Given the description of an element on the screen output the (x, y) to click on. 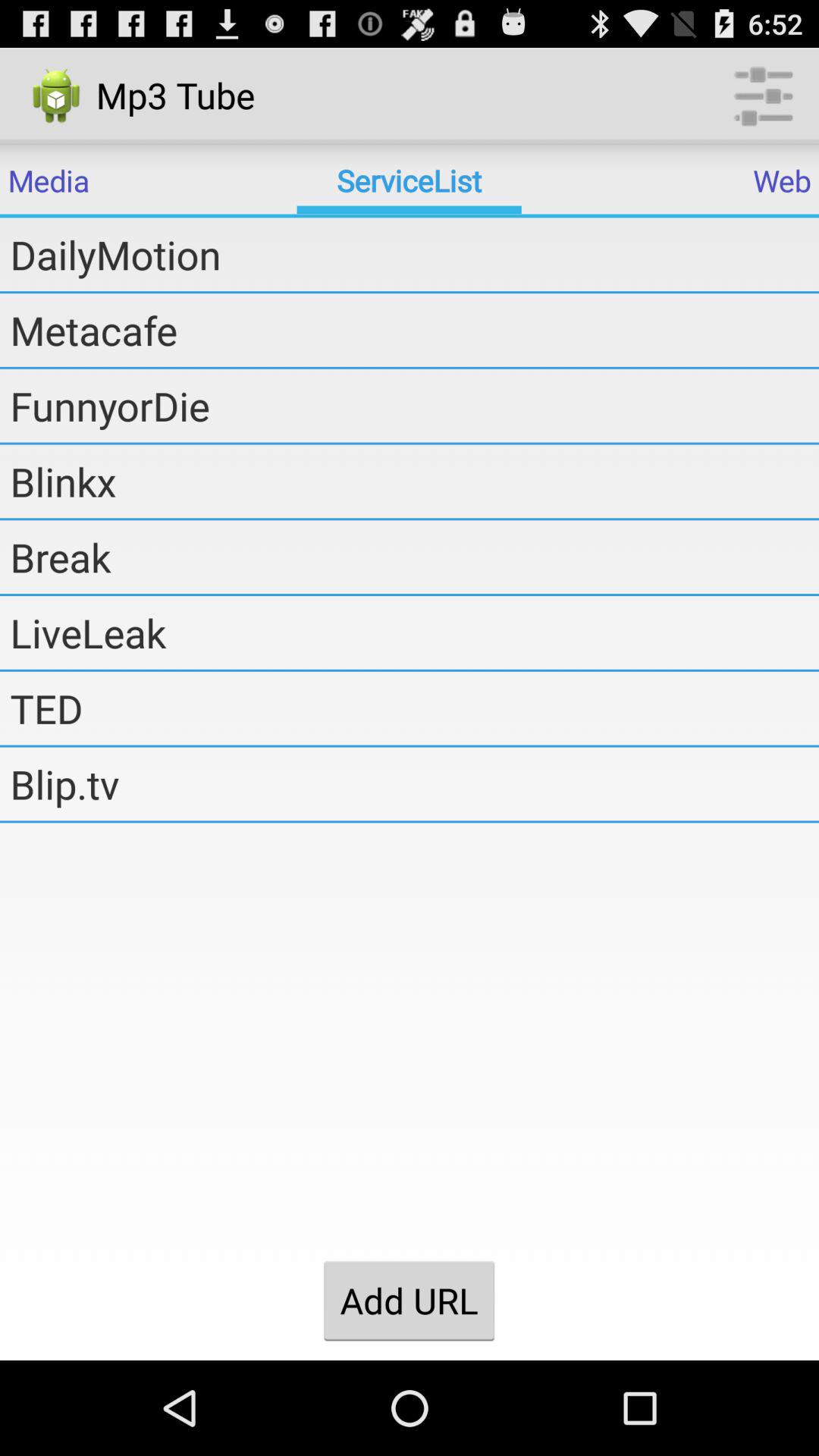
select item above funnyordie icon (414, 329)
